Given the description of an element on the screen output the (x, y) to click on. 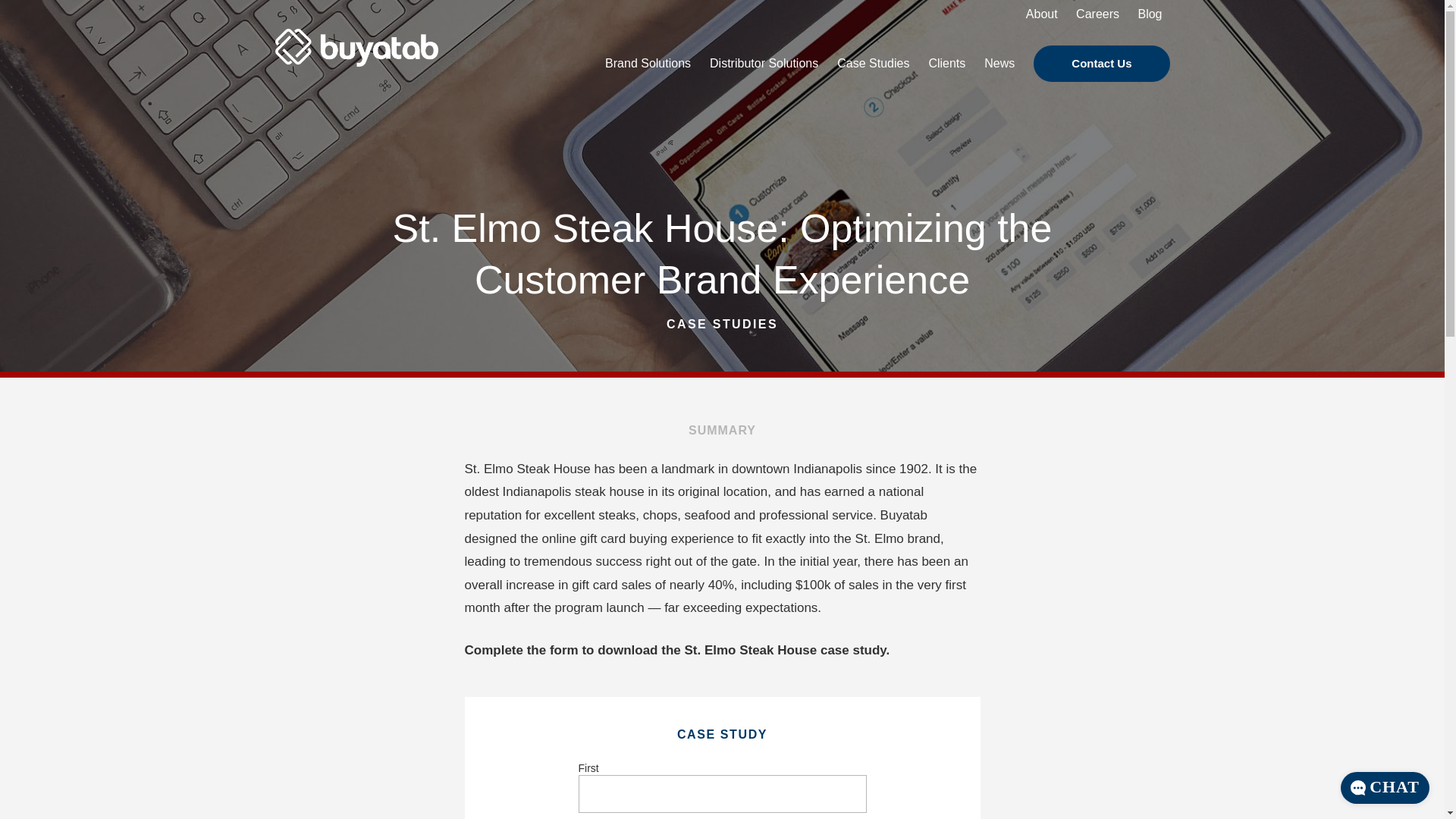
About (1041, 15)
Contact Us (1101, 63)
Case Studies (872, 64)
Clients (946, 64)
News (999, 64)
Brand Solutions (647, 64)
Careers (1097, 15)
Buyatab (380, 59)
Blog (1149, 15)
Distributor Solutions (764, 64)
